Given the description of an element on the screen output the (x, y) to click on. 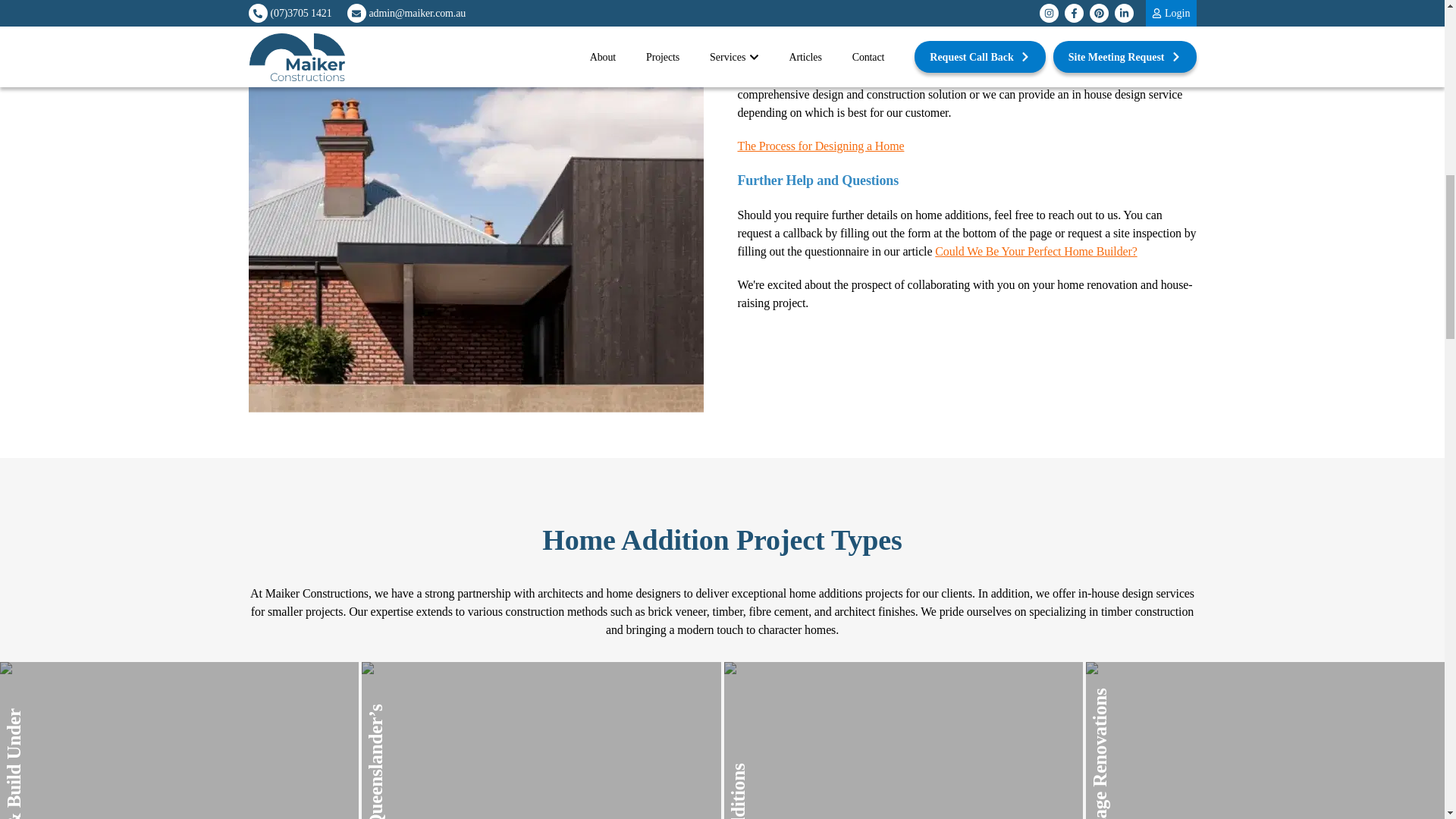
Could We Be Your Perfect Home Builder? (1035, 250)
The Process for Designing a Home (965, 146)
